Given the description of an element on the screen output the (x, y) to click on. 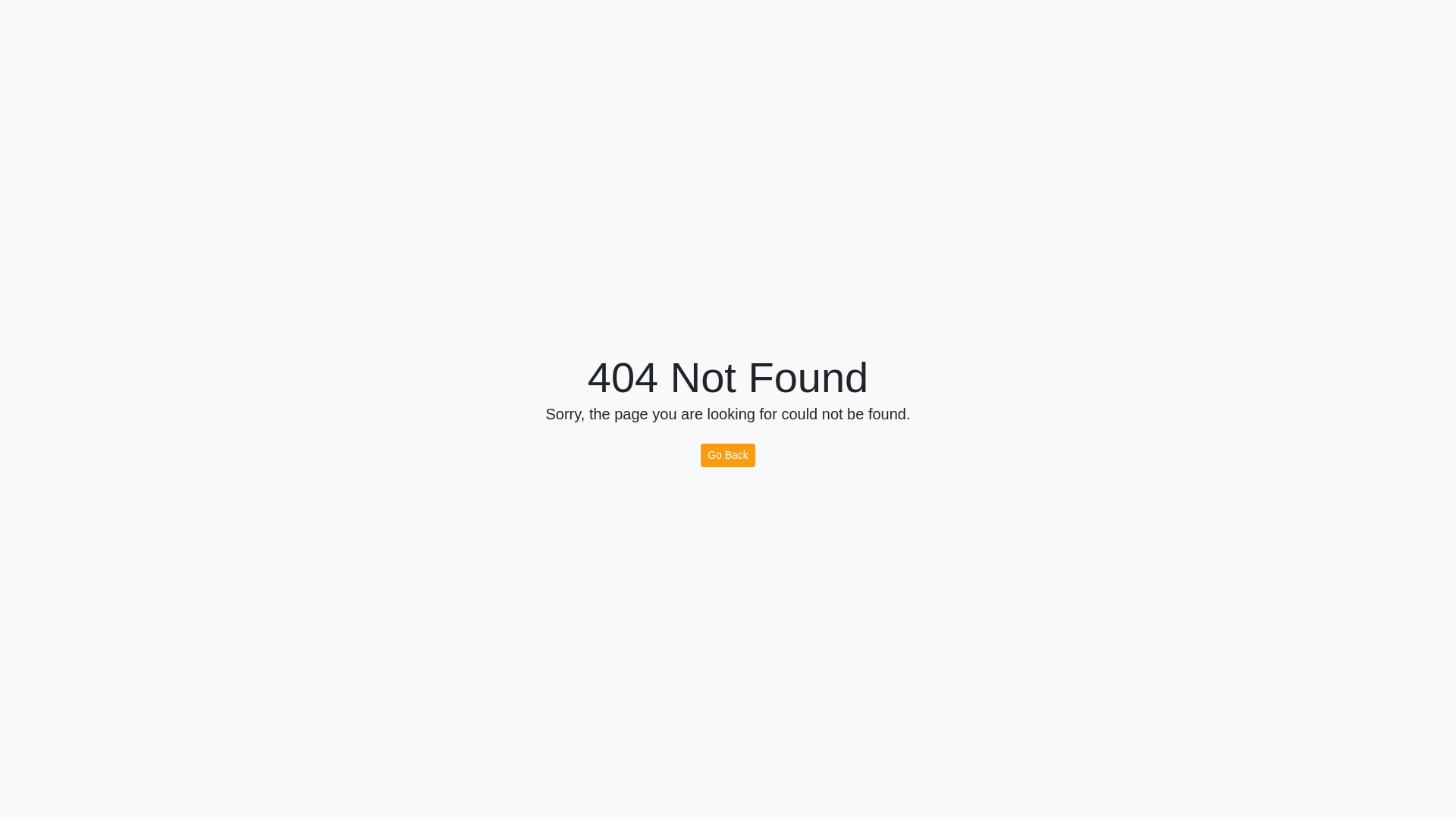
Go Back Element type: text (727, 455)
